Given the description of an element on the screen output the (x, y) to click on. 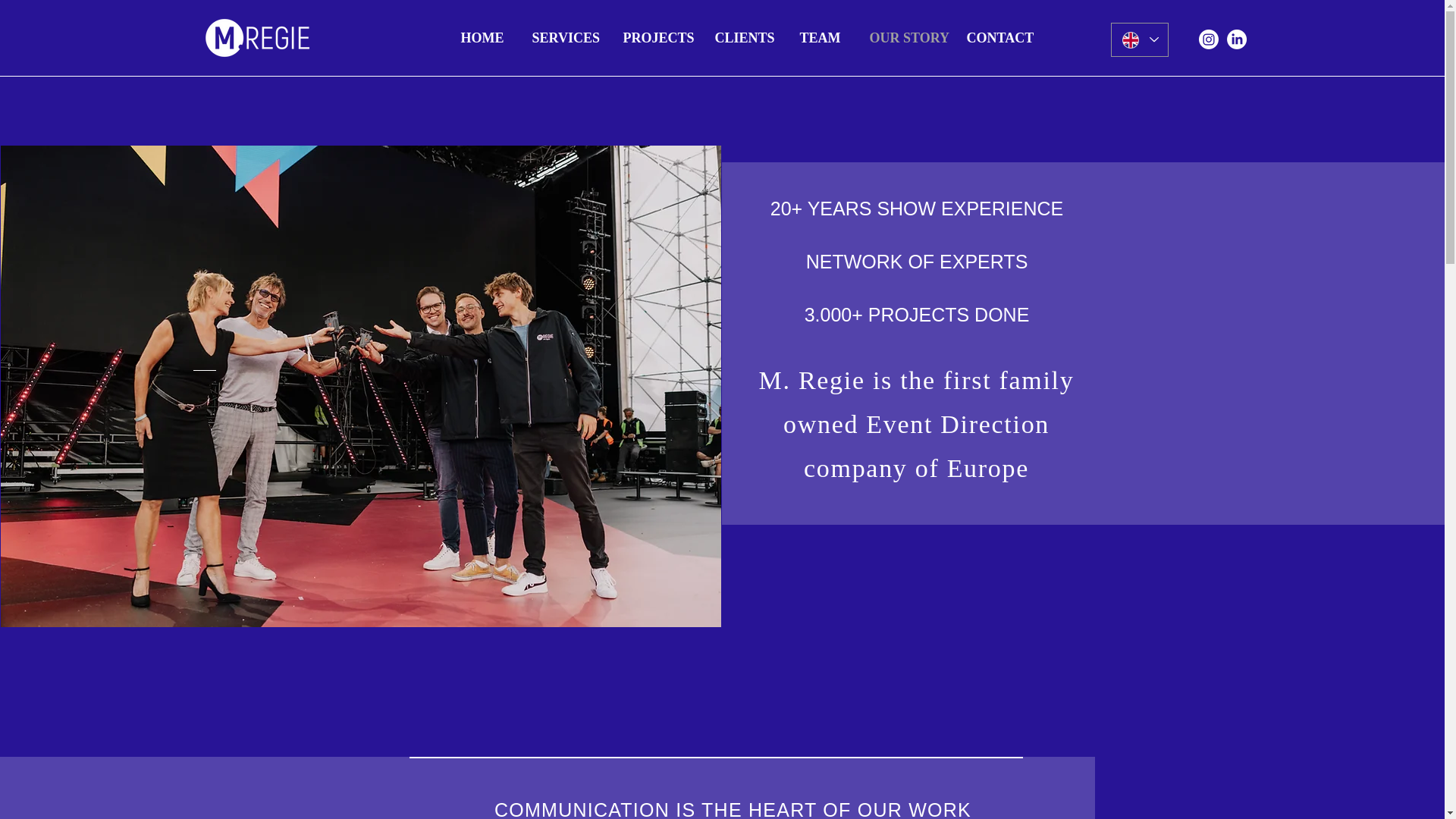
PROJECTS (657, 37)
CONTACT (999, 37)
HOME (483, 37)
SERVICES (565, 37)
CLIENTS (746, 37)
TEAM (824, 37)
OUR STORY (907, 37)
